Given the description of an element on the screen output the (x, y) to click on. 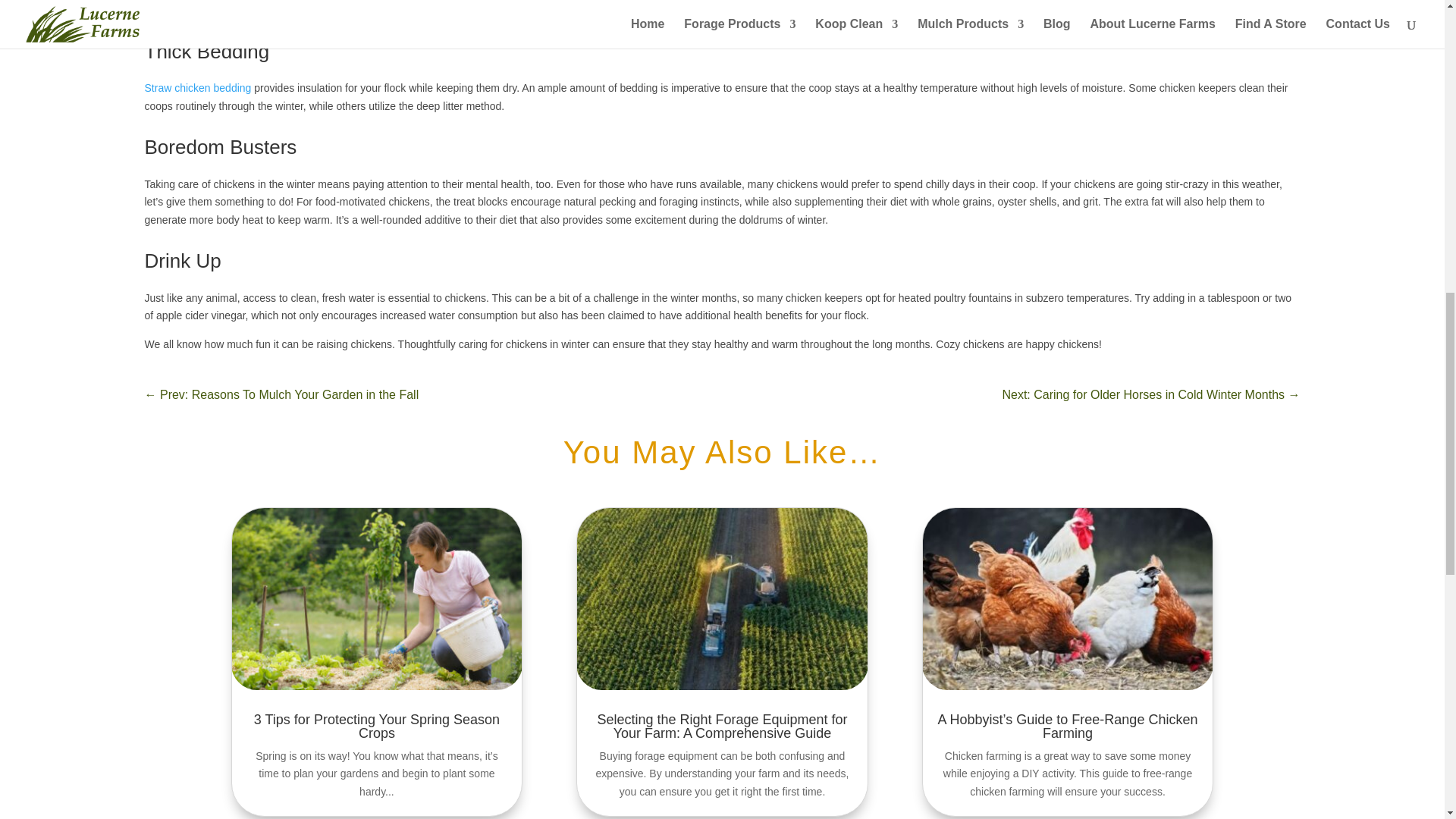
3 Tips for Protecting Your Spring Season Crops (376, 726)
Straw chicken bedding (197, 87)
